Given the description of an element on the screen output the (x, y) to click on. 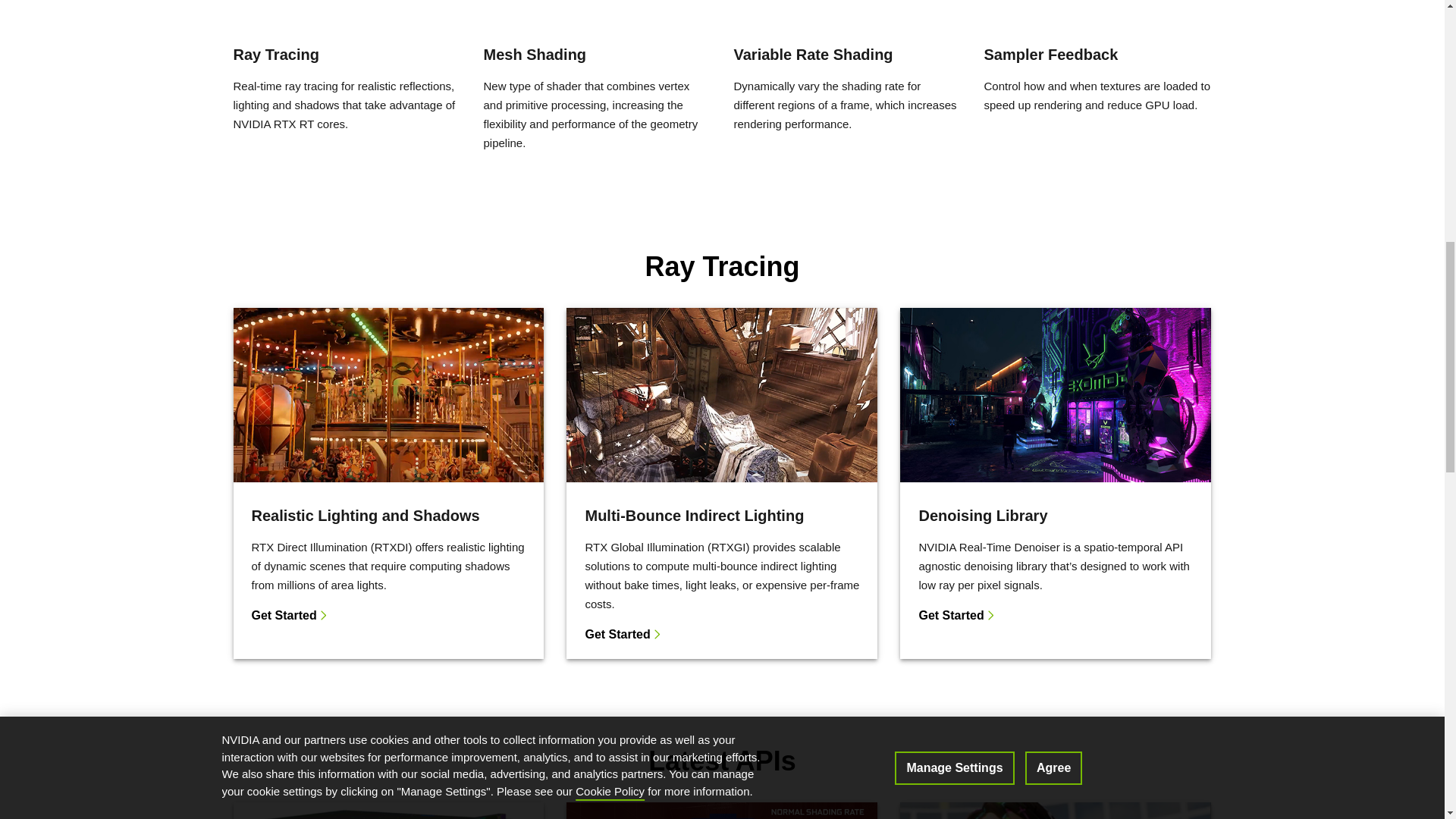
Get Started (716, 634)
Get Started (382, 615)
